Given the description of an element on the screen output the (x, y) to click on. 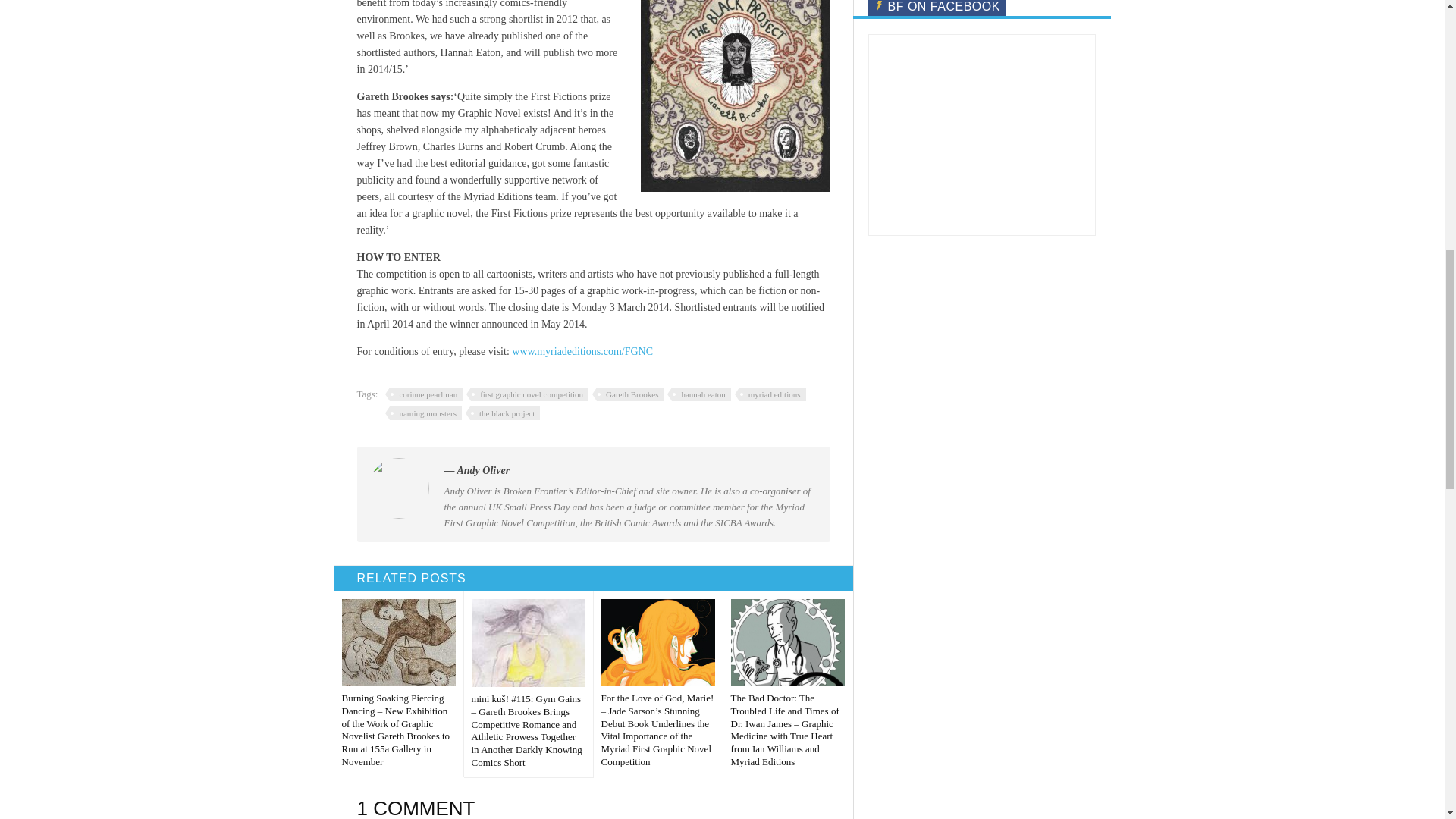
naming monsters (423, 413)
myriad editions (770, 394)
corinne pearlman (424, 394)
the black project (502, 413)
Gareth Brookes (627, 394)
hannah eaton (698, 394)
first graphic novel competition (526, 394)
